Given the description of an element on the screen output the (x, y) to click on. 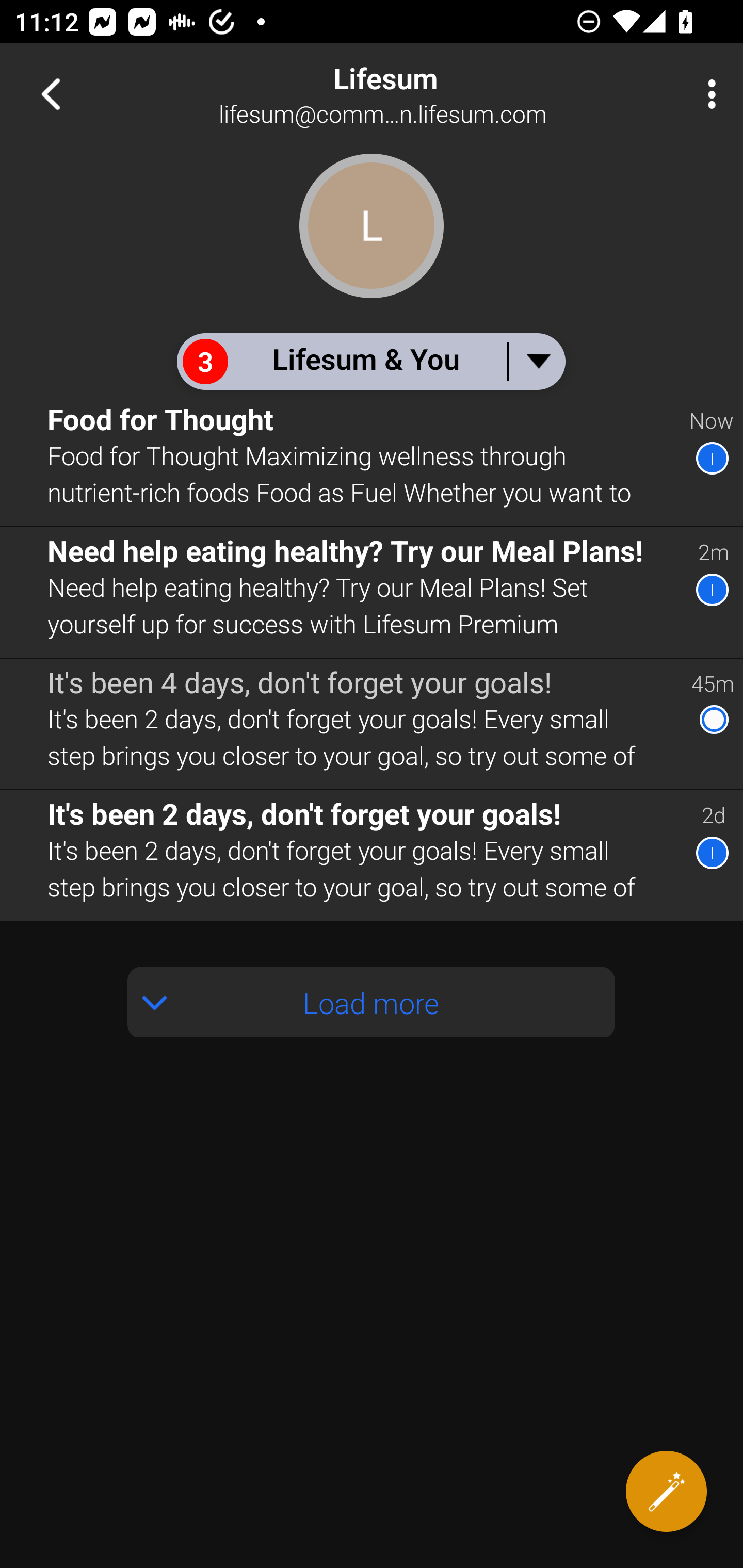
Navigate up (50, 93)
Lifesum lifesum@communication.lifesum.com (436, 93)
More Options (706, 93)
3 Lifesum & You (370, 361)
Load more (371, 1001)
